Given the description of an element on the screen output the (x, y) to click on. 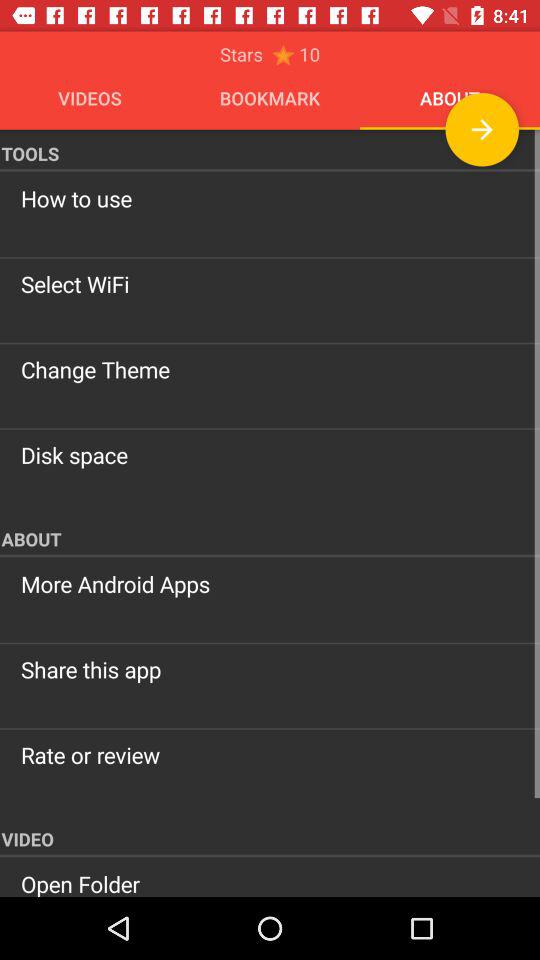
choose the item next to the bookmark item (482, 129)
